Given the description of an element on the screen output the (x, y) to click on. 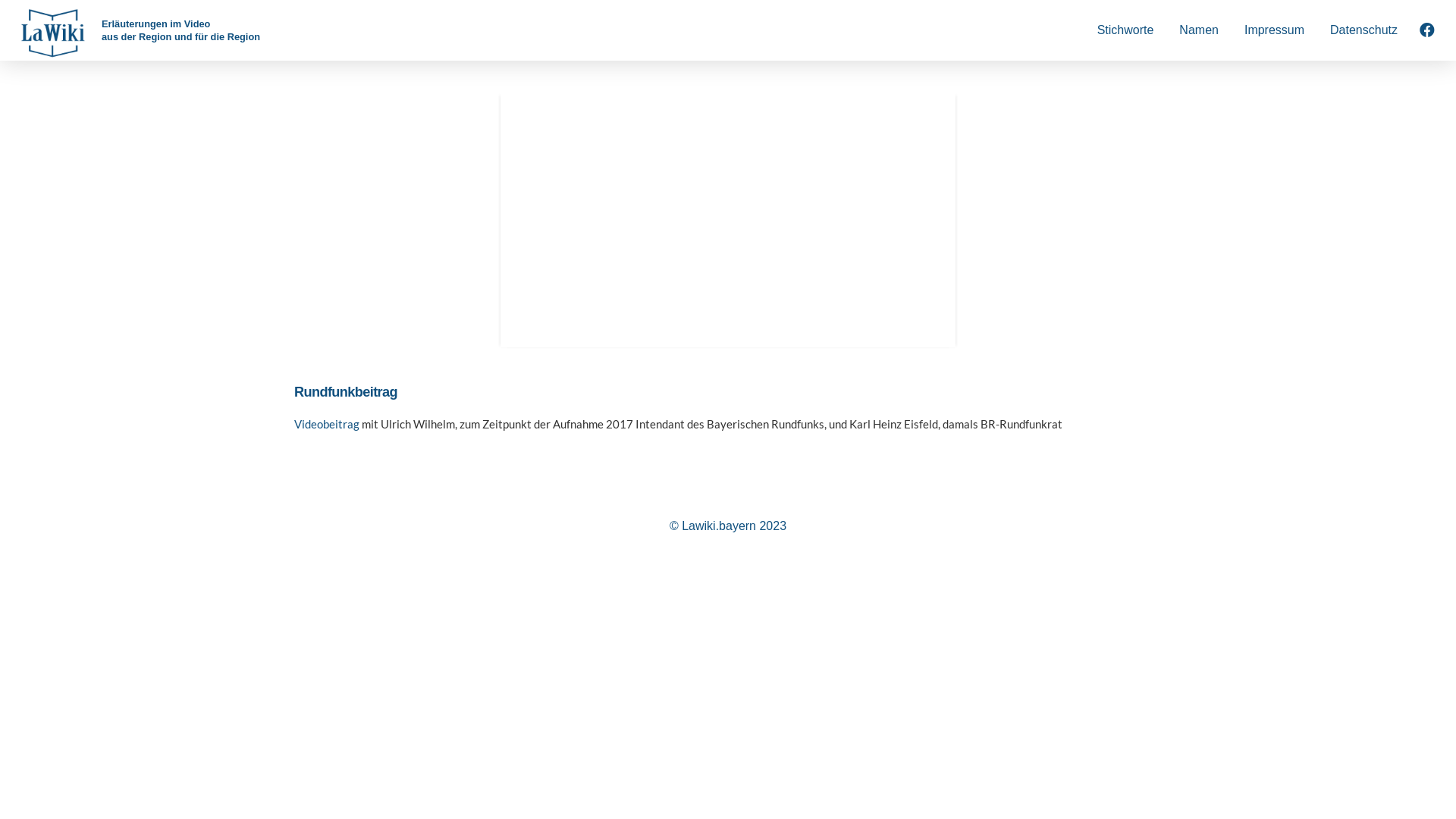
Datenschutz Element type: text (1363, 30)
Impressum Element type: text (1274, 30)
Namen Element type: text (1198, 30)
Videobeitrag Element type: text (326, 423)
Stichworte Element type: text (1125, 30)
